Given the description of an element on the screen output the (x, y) to click on. 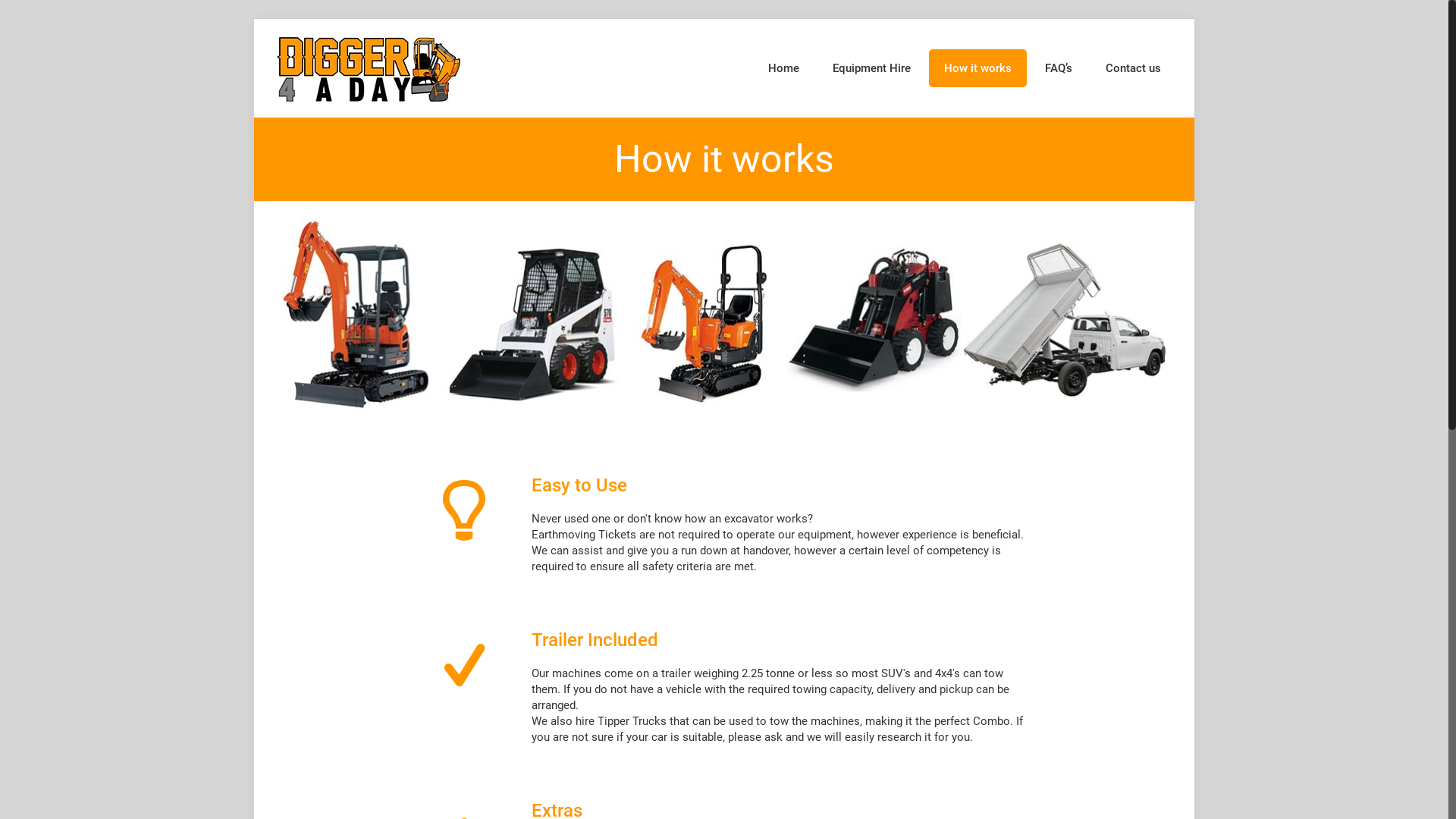
Contact us Element type: text (1133, 68)
How it works Element type: text (977, 68)
Digger 4 A Day - Gold Coast Element type: hover (368, 67)
Equipment Hire Element type: text (871, 68)
Home Element type: text (783, 68)
